Given the description of an element on the screen output the (x, y) to click on. 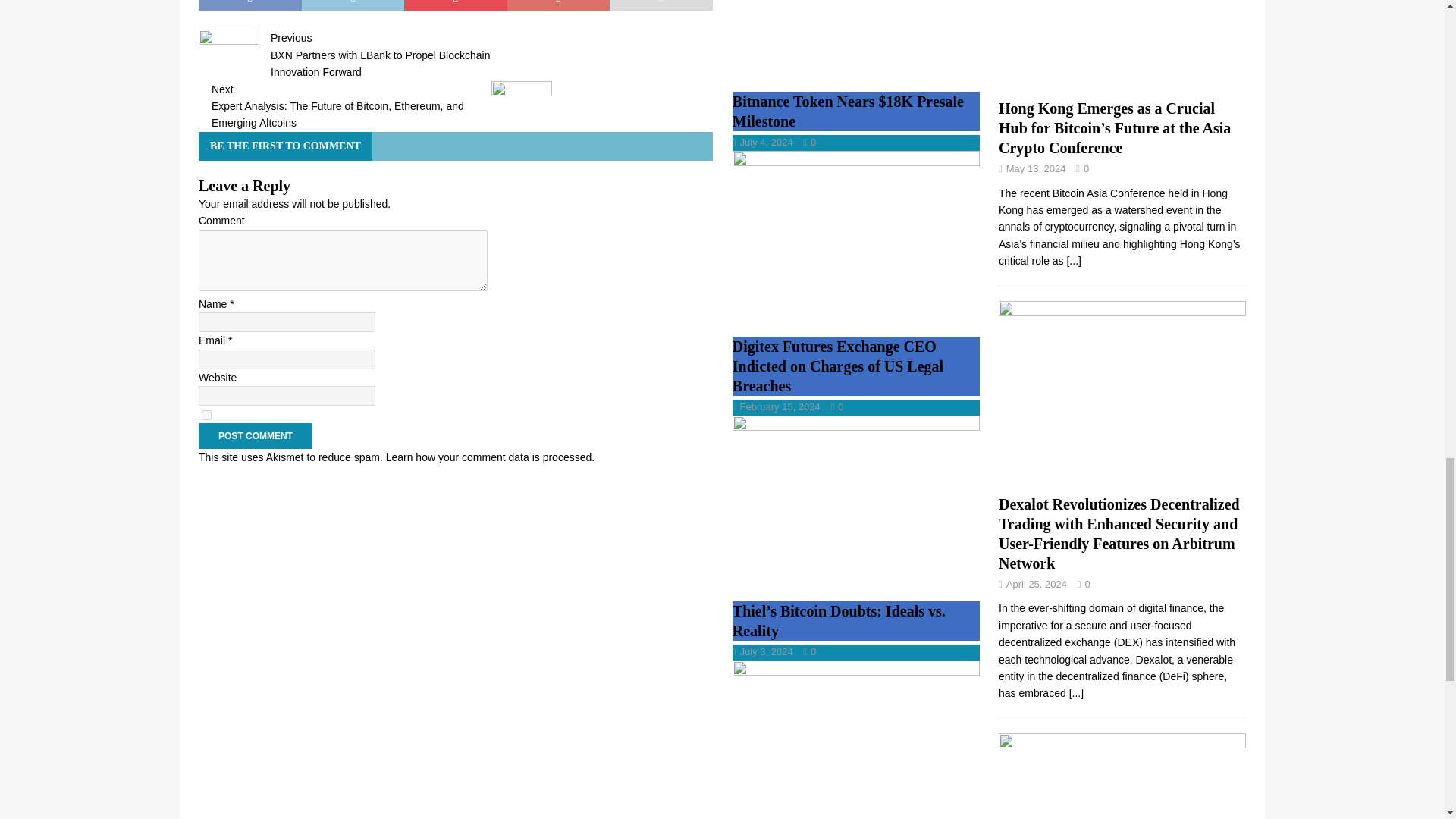
Post Comment (255, 435)
Post Comment (255, 435)
yes (206, 415)
Learn how your comment data is processed (488, 457)
